Given the description of an element on the screen output the (x, y) to click on. 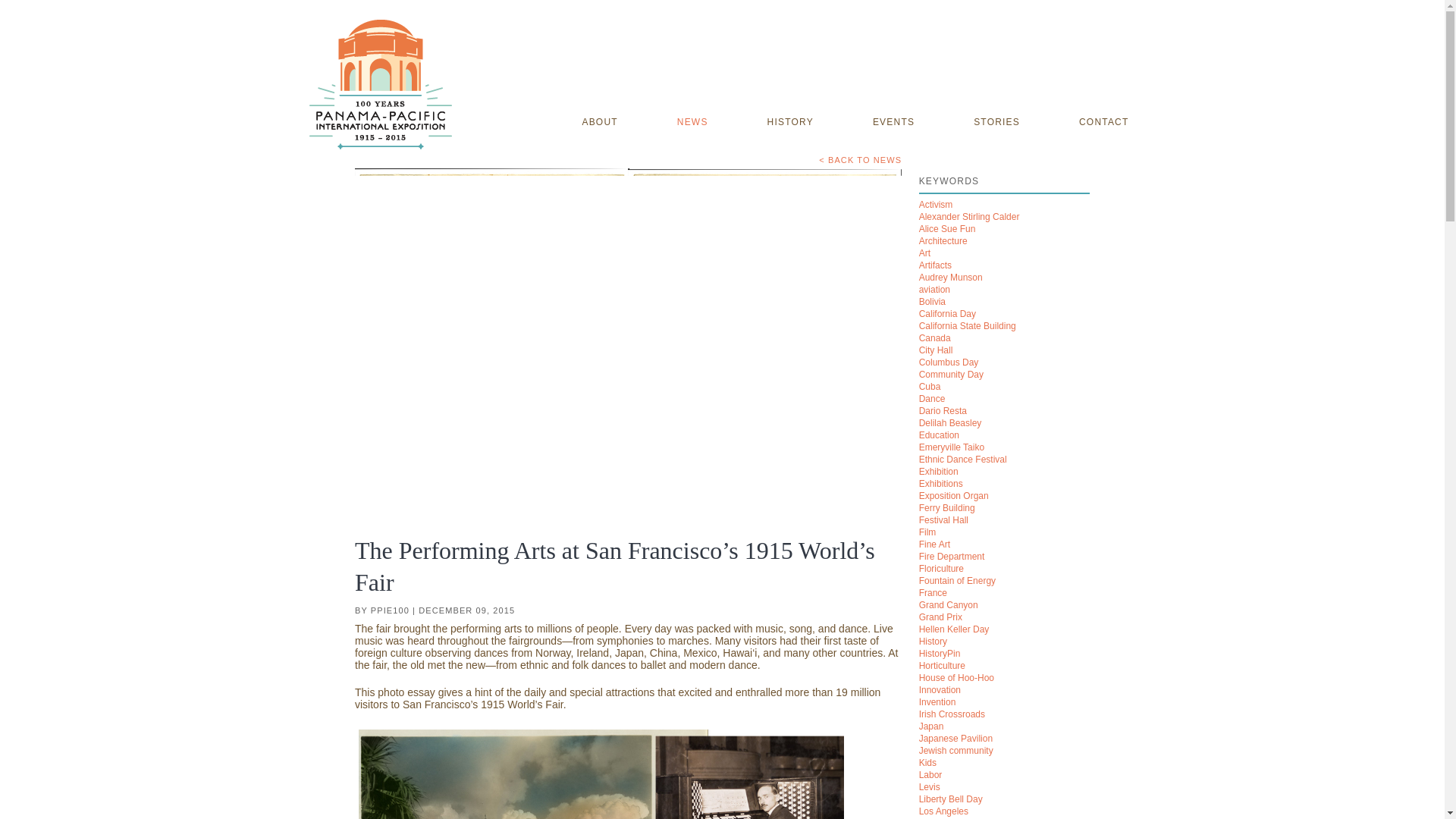
Delilah Beasley (949, 422)
California Day Tag (946, 313)
Art (924, 253)
aviation Tag (934, 289)
Activism Tag (935, 204)
California State Building (967, 326)
HISTORY (790, 123)
Alice Sue Fun (946, 228)
Artifacts Tag (935, 265)
Bolivia (931, 301)
Dance (931, 398)
Community Day (951, 374)
EVENTS (893, 123)
Artifacts (935, 265)
NEWS (692, 123)
